Given the description of an element on the screen output the (x, y) to click on. 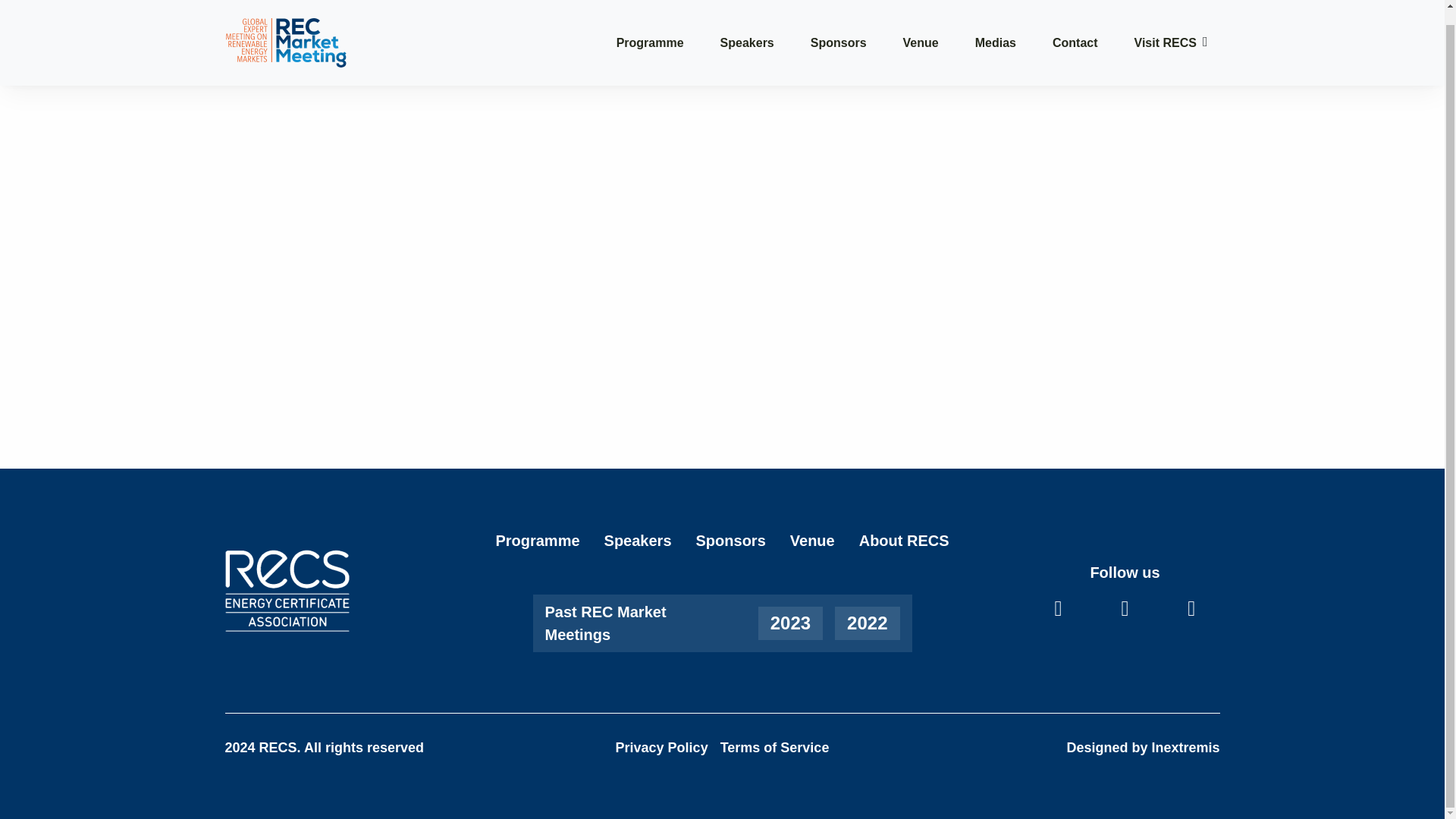
2022 (866, 622)
Speakers (637, 540)
Terms of Service (774, 747)
Sponsors (838, 27)
Venue (920, 27)
Contact (1074, 27)
Programme (537, 540)
Sponsors (730, 540)
Speakers (747, 27)
About RECS (904, 540)
